Given the description of an element on the screen output the (x, y) to click on. 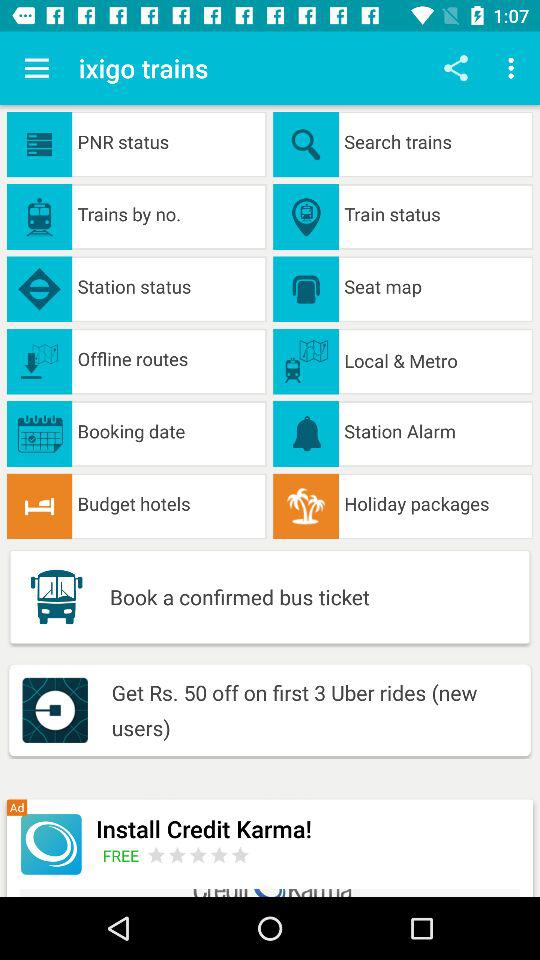
share information (455, 67)
